Given the description of an element on the screen output the (x, y) to click on. 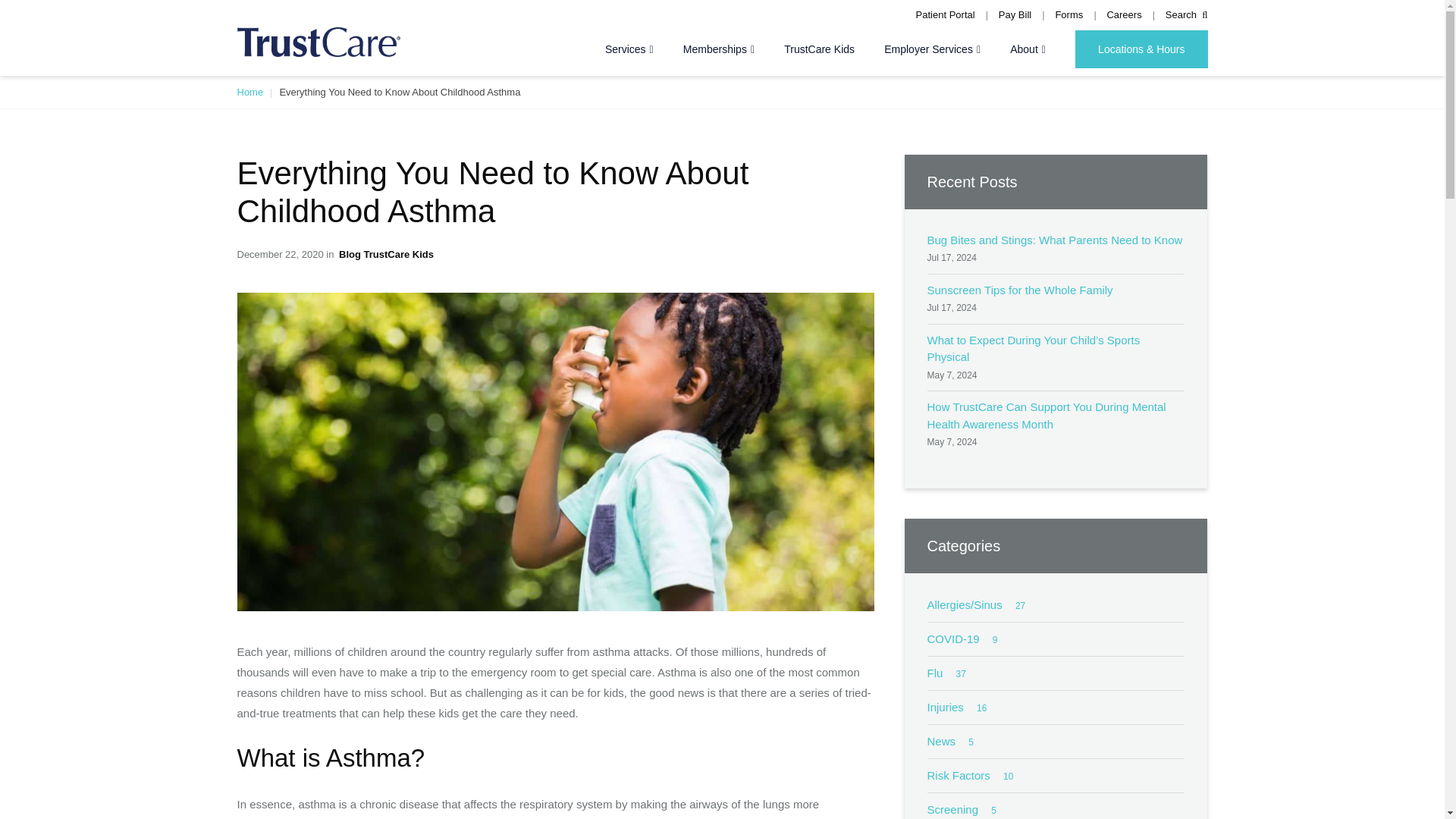
Pay Bill (1014, 15)
Careers (1123, 15)
Search   (1187, 15)
Memberships (718, 49)
Patient Portal (945, 15)
Patient Portal (945, 15)
Services (629, 49)
Careers (1123, 15)
TrustCare Kids (819, 49)
Forms (1068, 15)
